Given the description of an element on the screen output the (x, y) to click on. 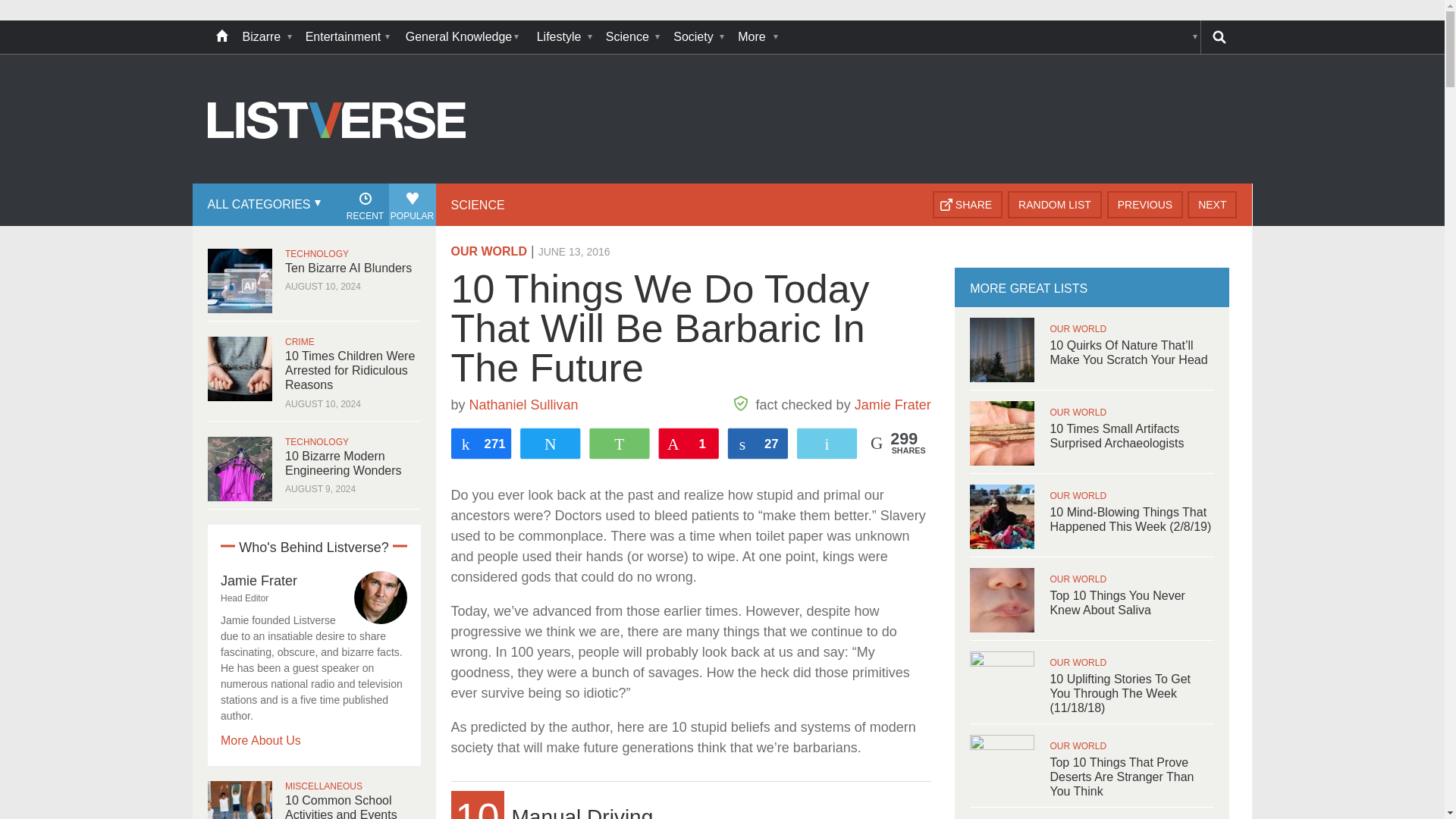
Share (968, 204)
Bizarre (266, 37)
Society (697, 37)
Popular (411, 204)
Entertainment (347, 37)
Science (631, 37)
Lifestyle (563, 37)
Go to Home (336, 181)
General Knowledge (462, 37)
More (756, 37)
